Given the description of an element on the screen output the (x, y) to click on. 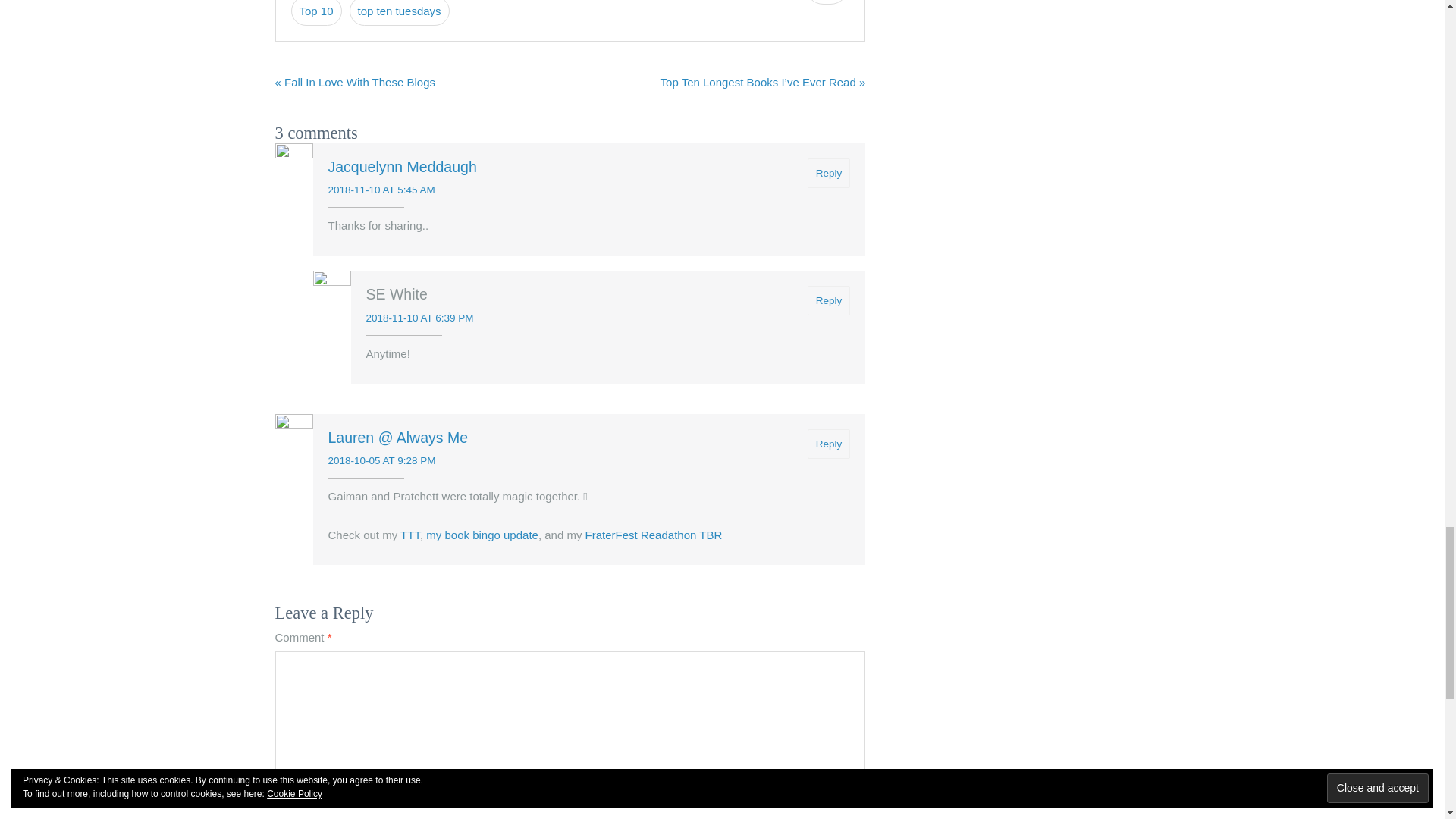
top ten tuesdays (399, 12)
Top 10 (316, 12)
Reply (829, 173)
Jacquelynn Meddaugh (401, 166)
